Given the description of an element on the screen output the (x, y) to click on. 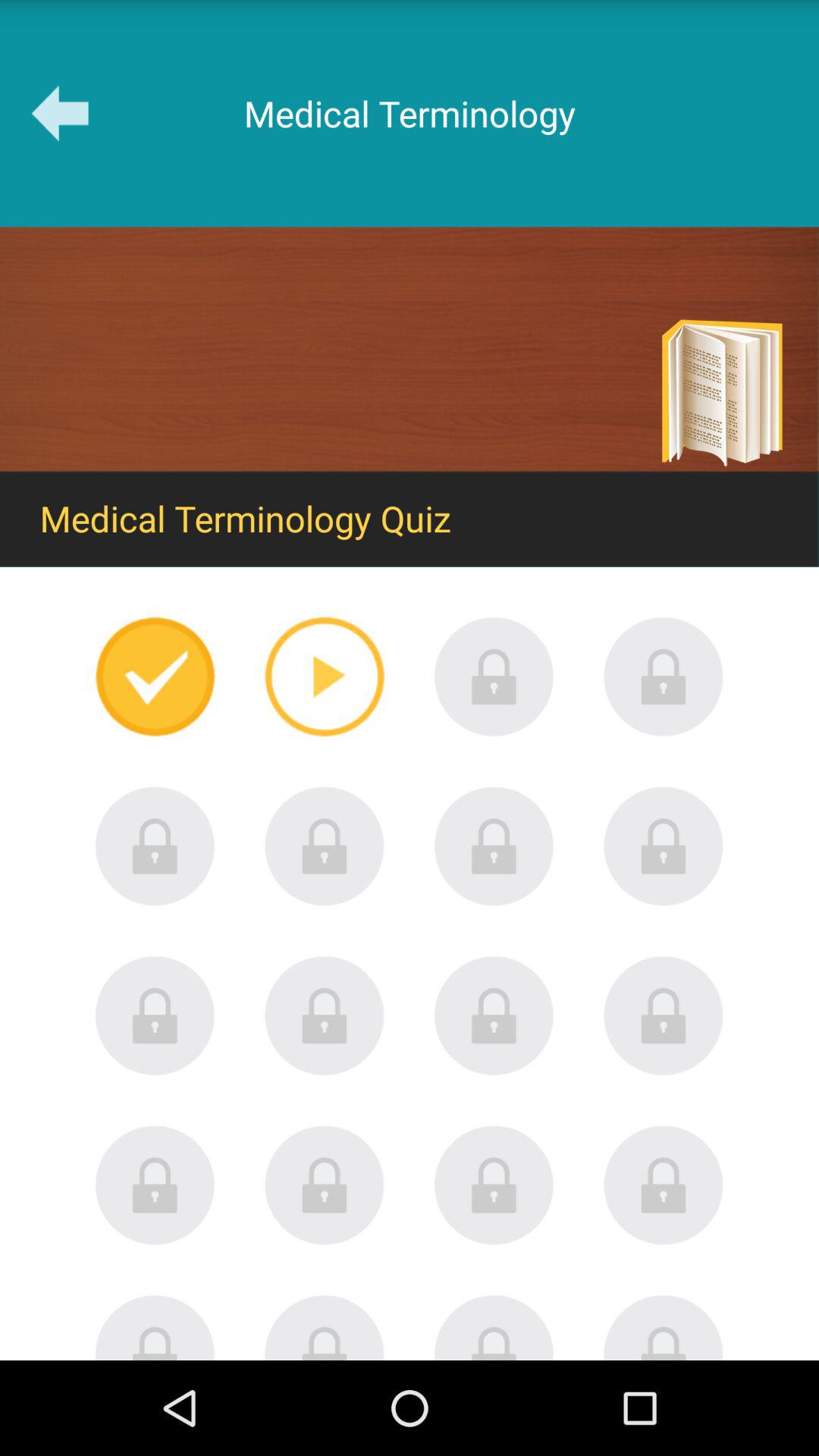
lock option (663, 676)
